Given the description of an element on the screen output the (x, y) to click on. 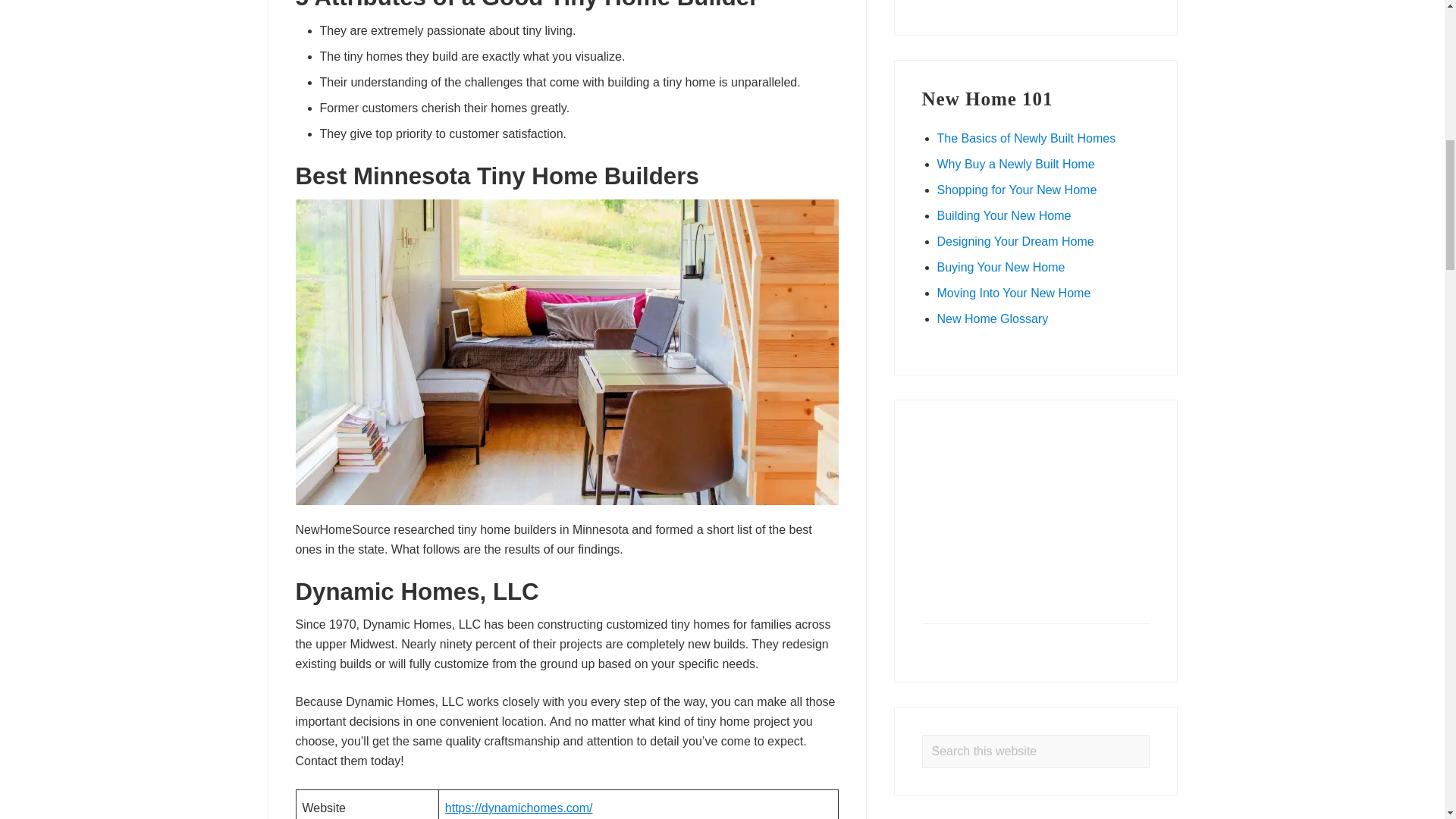
Moving Into Your New Home (1013, 292)
Shopping for Your New Home (1017, 189)
Buying Your New Home (1001, 267)
Designing Your Dream Home (1015, 241)
New Home Glossary (992, 318)
Why Buy a Newly Built Home (1015, 164)
The Basics of Newly Built Homes (1026, 137)
